Given the description of an element on the screen output the (x, y) to click on. 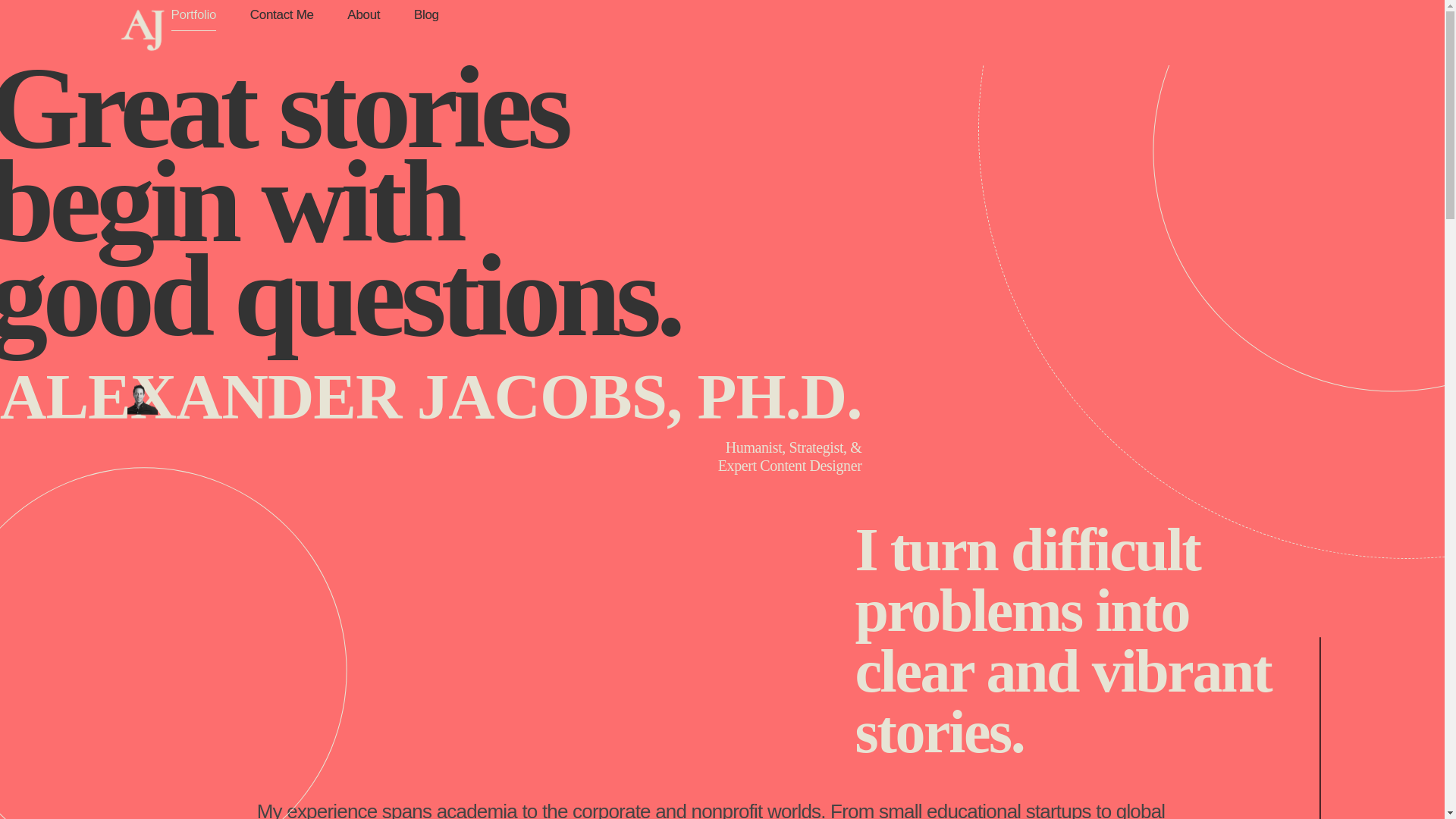
Alexander Jacobs (142, 29)
Portfolio (201, 19)
Alexander Jacobs (198, 60)
Contact Me (281, 14)
ALEXANDER JACOBS (198, 60)
Blog (418, 14)
About (363, 14)
